Given the description of an element on the screen output the (x, y) to click on. 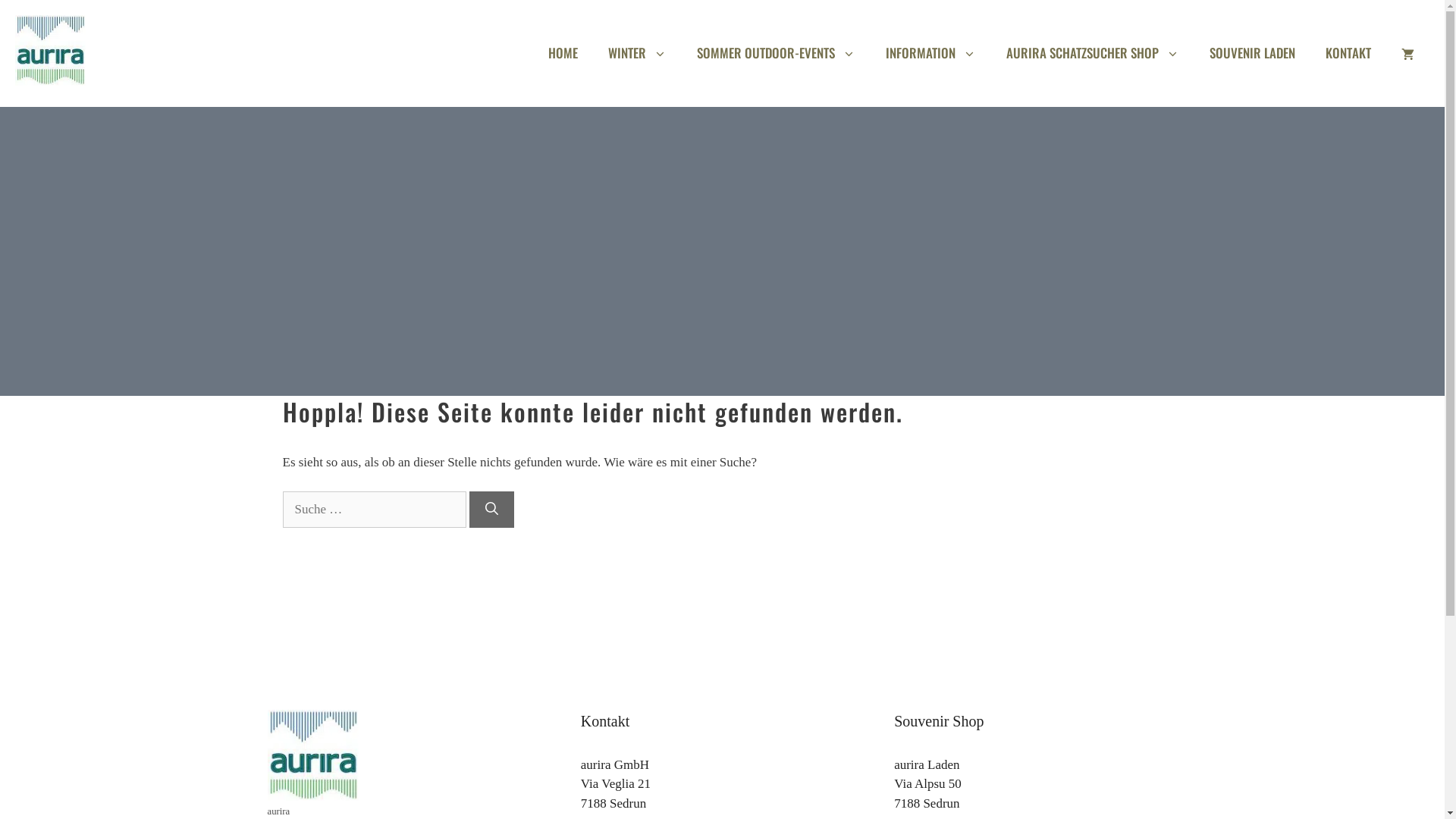
KONTAKT Element type: text (1348, 52)
HOME Element type: text (563, 52)
WINTER Element type: text (637, 52)
SOMMER OUTDOOR-EVENTS Element type: text (775, 52)
INFORMATION Element type: text (930, 52)
Suche nach: Element type: hover (373, 509)
AURIRA SCHATZSUCHER SHOP Element type: text (1092, 52)
SOUVENIR LADEN Element type: text (1252, 52)
Warenkorb ansehen Element type: hover (1407, 52)
